Given the description of an element on the screen output the (x, y) to click on. 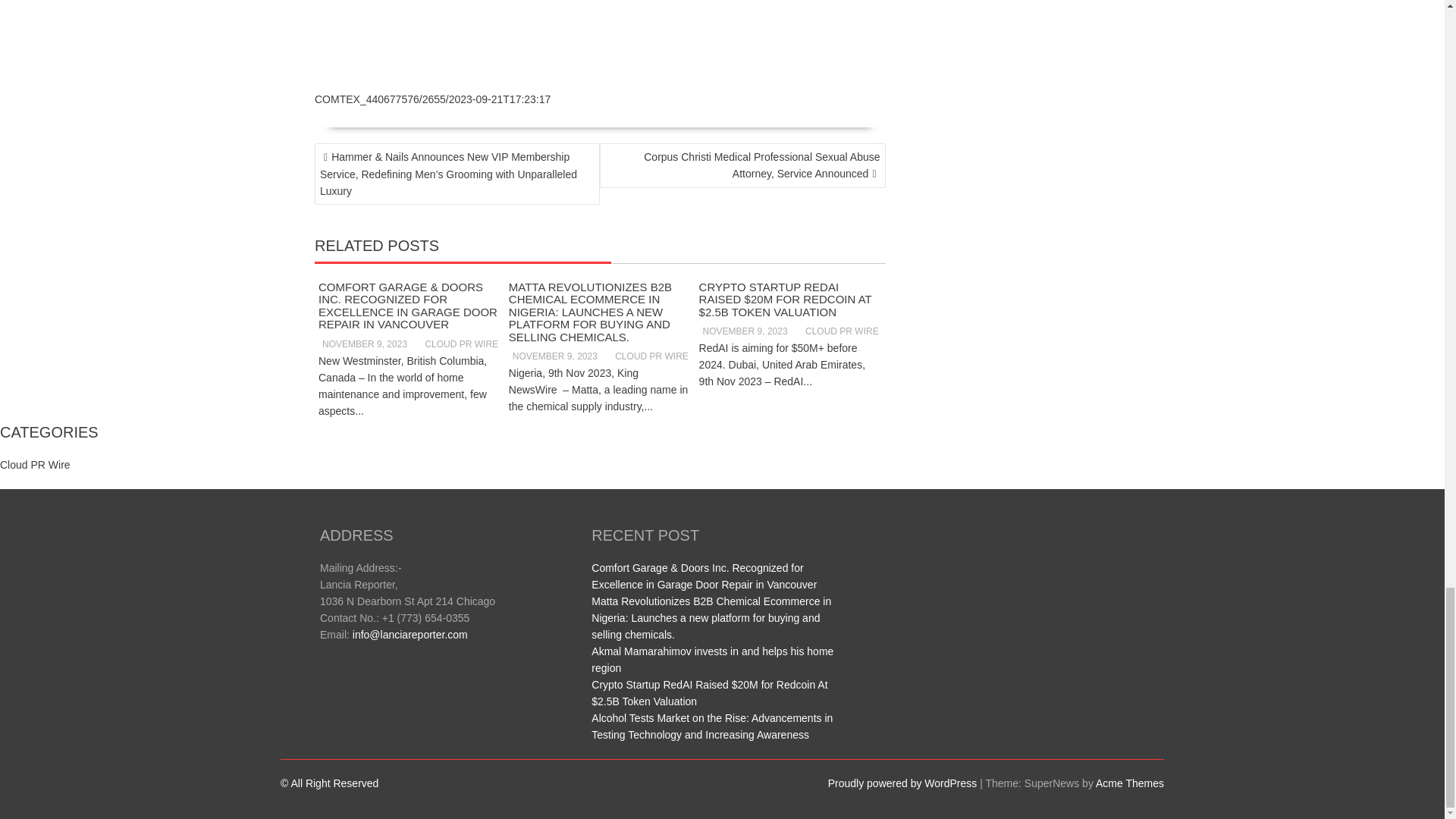
NOVEMBER 9, 2023 (362, 343)
NOVEMBER 9, 2023 (552, 356)
NOVEMBER 9, 2023 (742, 330)
CLOUD PR WIRE (458, 343)
CLOUD PR WIRE (649, 356)
CLOUD PR WIRE (840, 330)
